Given the description of an element on the screen output the (x, y) to click on. 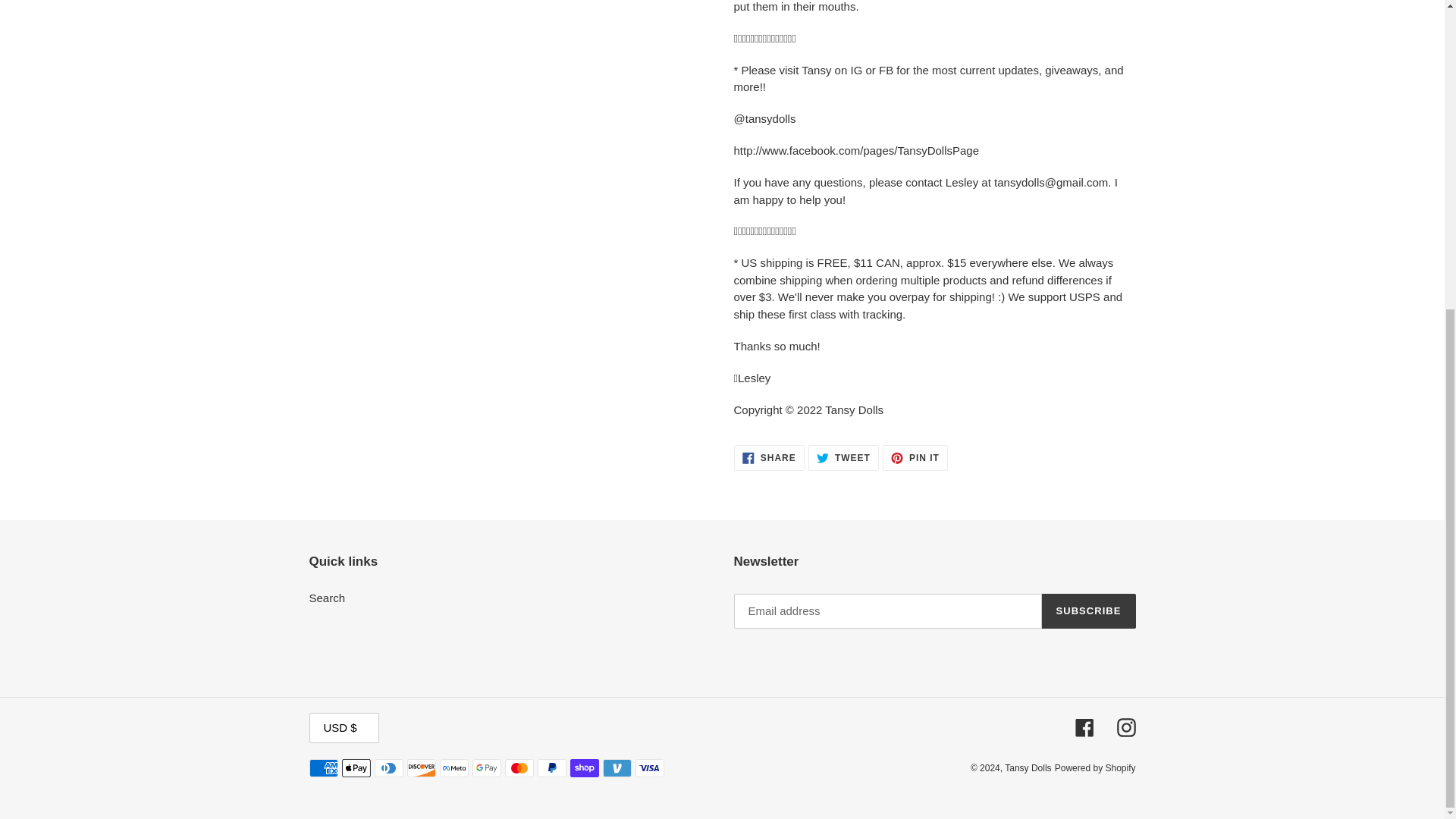
SUBSCRIBE (1088, 610)
Search (327, 597)
